Given the description of an element on the screen output the (x, y) to click on. 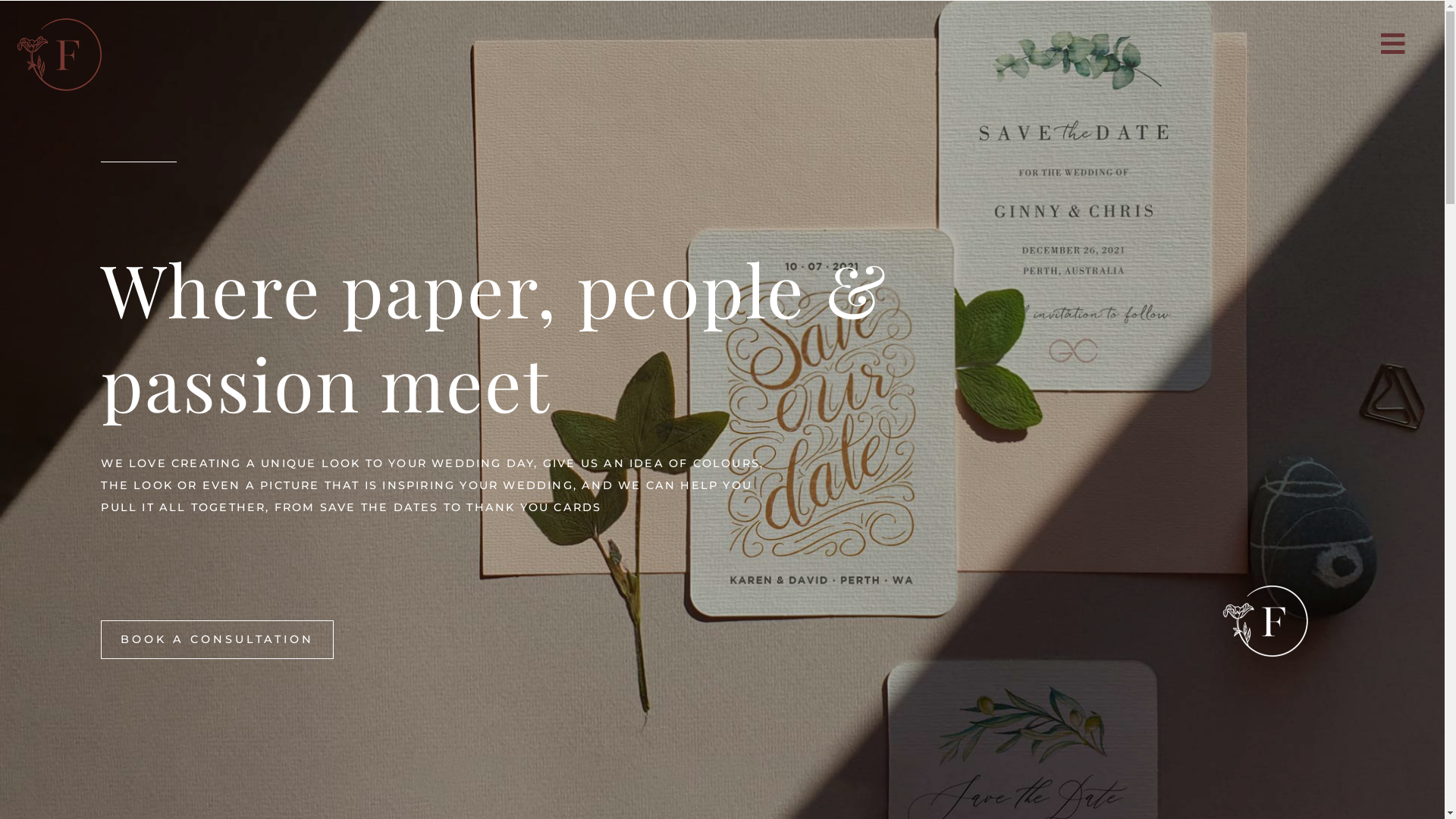
BOOK A CONSULTATION Element type: text (216, 639)
Felicitations home Element type: hover (1265, 620)
